Given the description of an element on the screen output the (x, y) to click on. 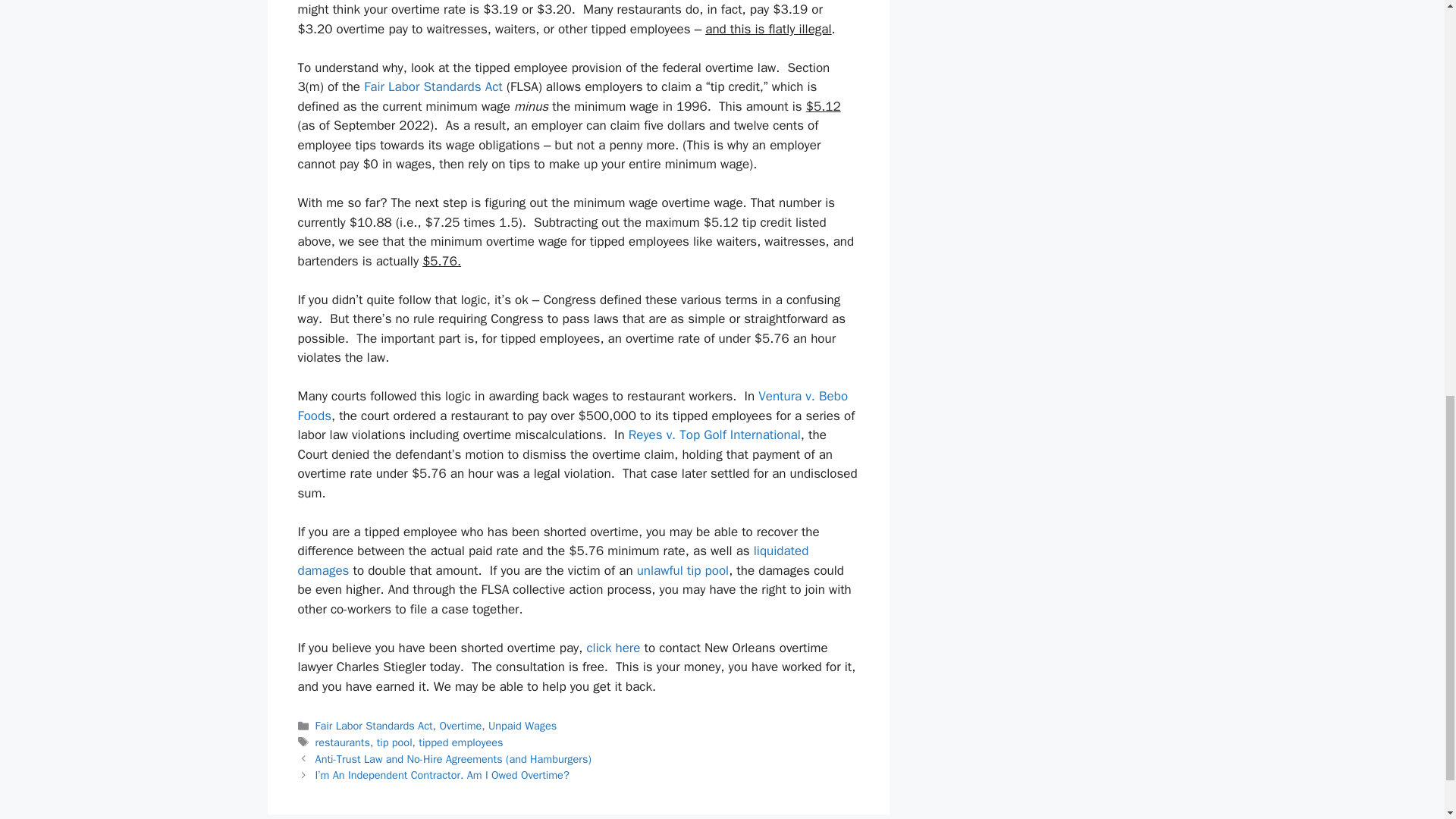
Overtime (460, 725)
Reyes v. Top Golf International (714, 434)
Unpaid Wages (521, 725)
click here (613, 647)
restaurants (342, 742)
tipped employees (460, 742)
tip pool (394, 742)
Ventura v. Bebo Foods (572, 406)
Fair Labor Standards Act (373, 725)
unlawful tip pool (683, 570)
